Given the description of an element on the screen output the (x, y) to click on. 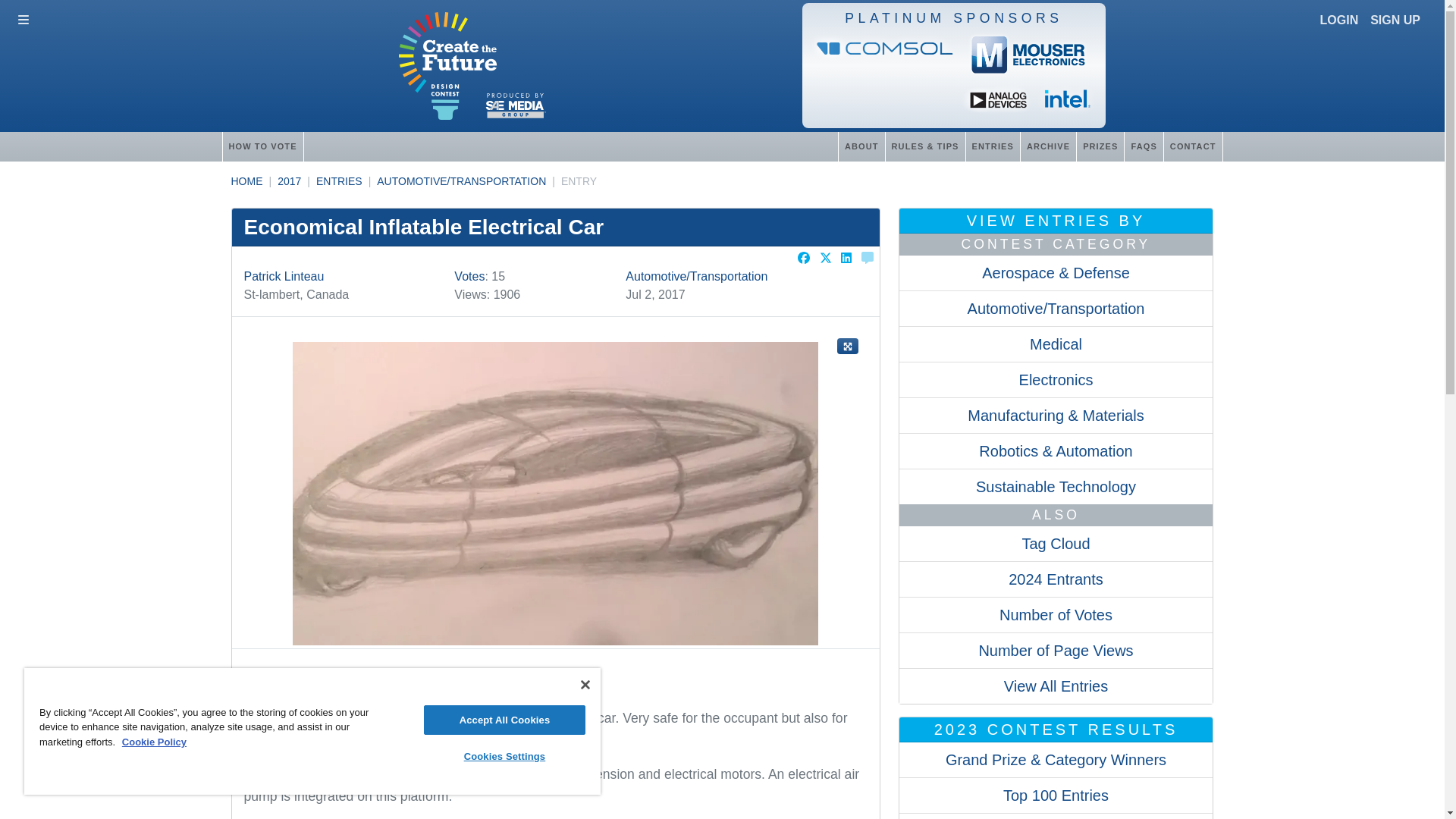
HOW TO VOTE (261, 146)
ENTRIES (992, 146)
ARCHIVE (1047, 146)
FAQS (1142, 146)
2017 (289, 181)
SIGN UP (1395, 20)
ENTRIES (338, 181)
CONTACT (1193, 146)
Patrick Linteau (284, 276)
PRIZES (1099, 146)
